Given the description of an element on the screen output the (x, y) to click on. 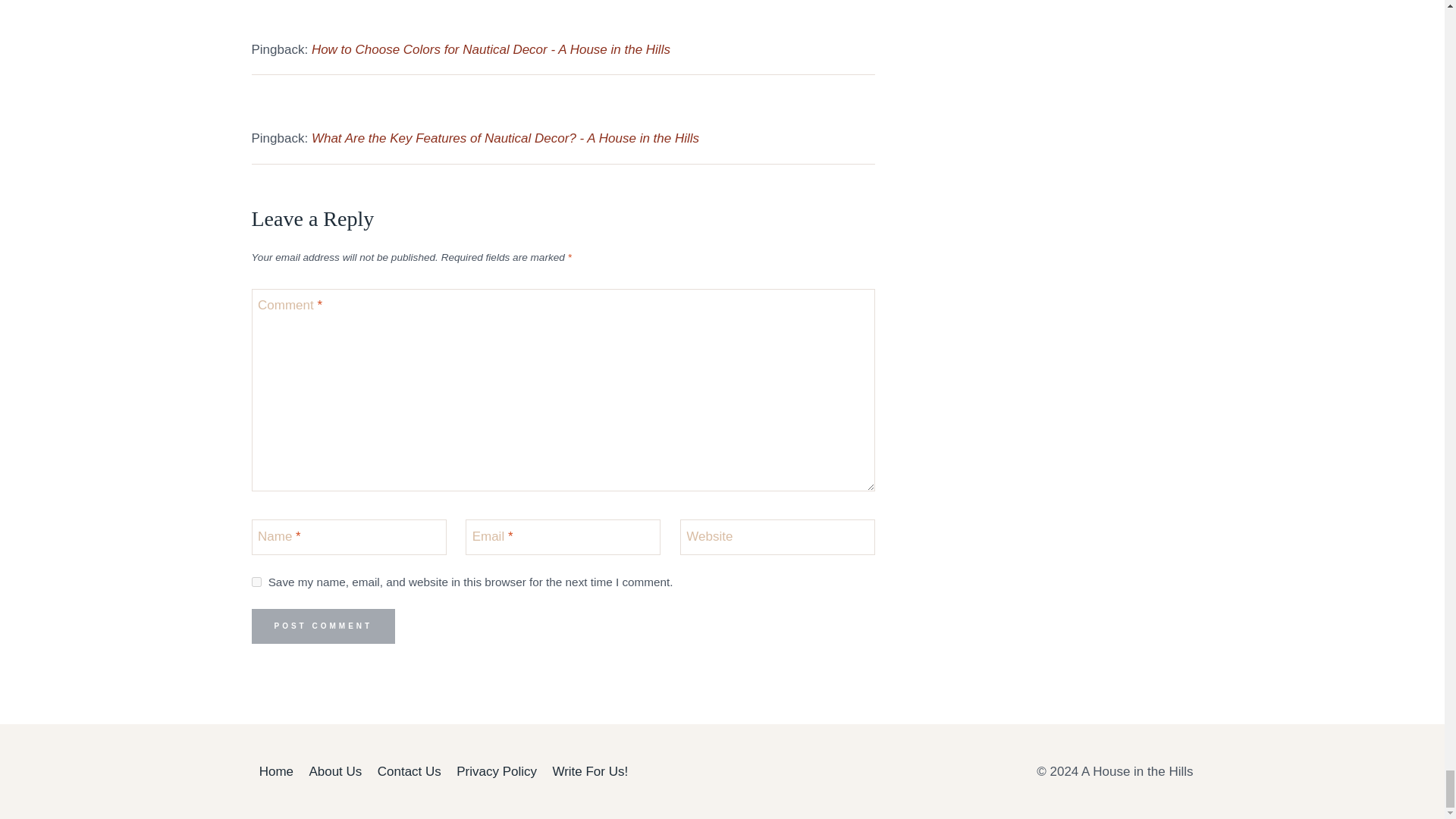
yes (256, 582)
Post Comment (323, 626)
